Given the description of an element on the screen output the (x, y) to click on. 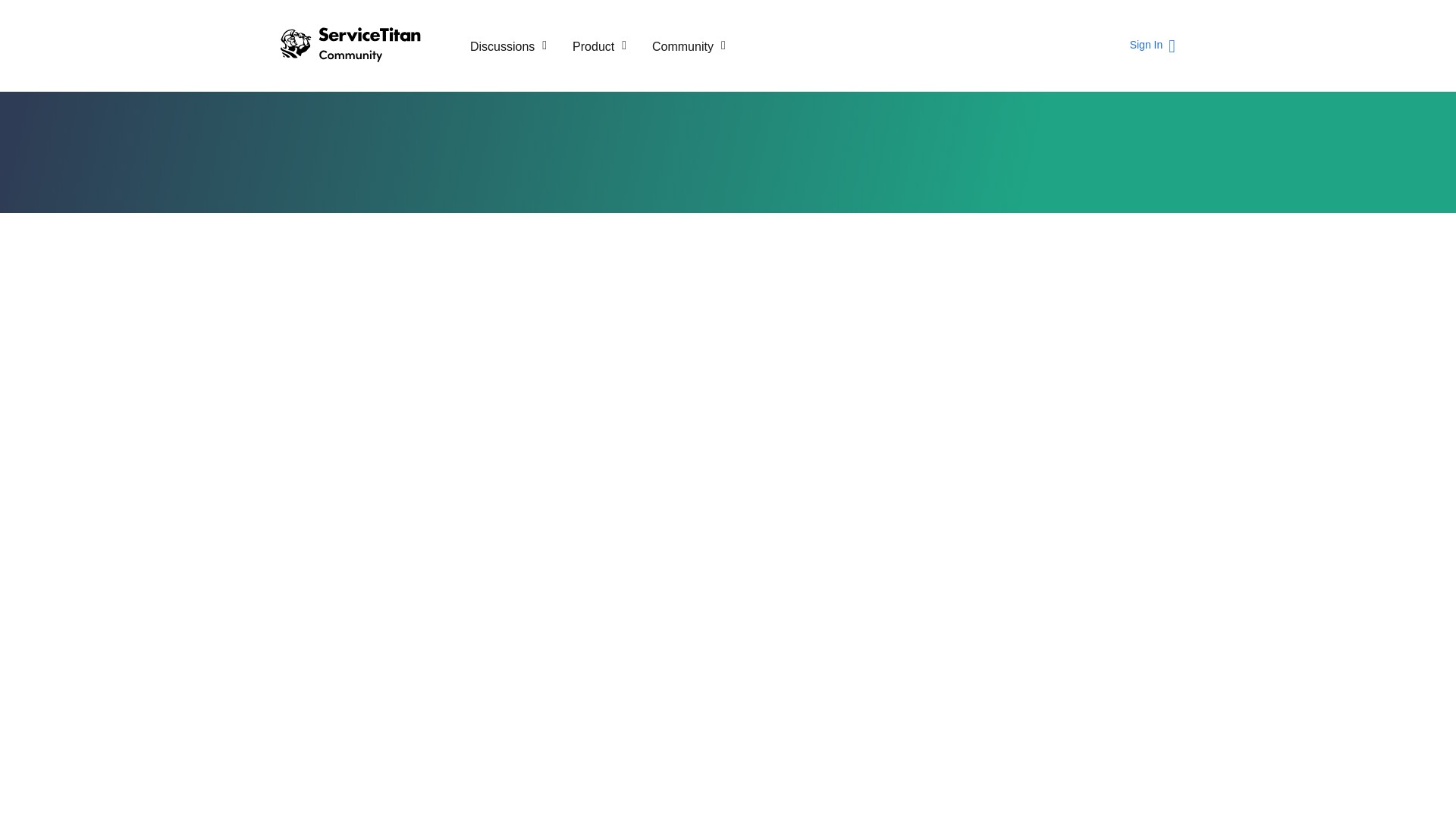
ServiceTitan Community (363, 45)
Discussions (507, 45)
Product (598, 45)
